Given the description of an element on the screen output the (x, y) to click on. 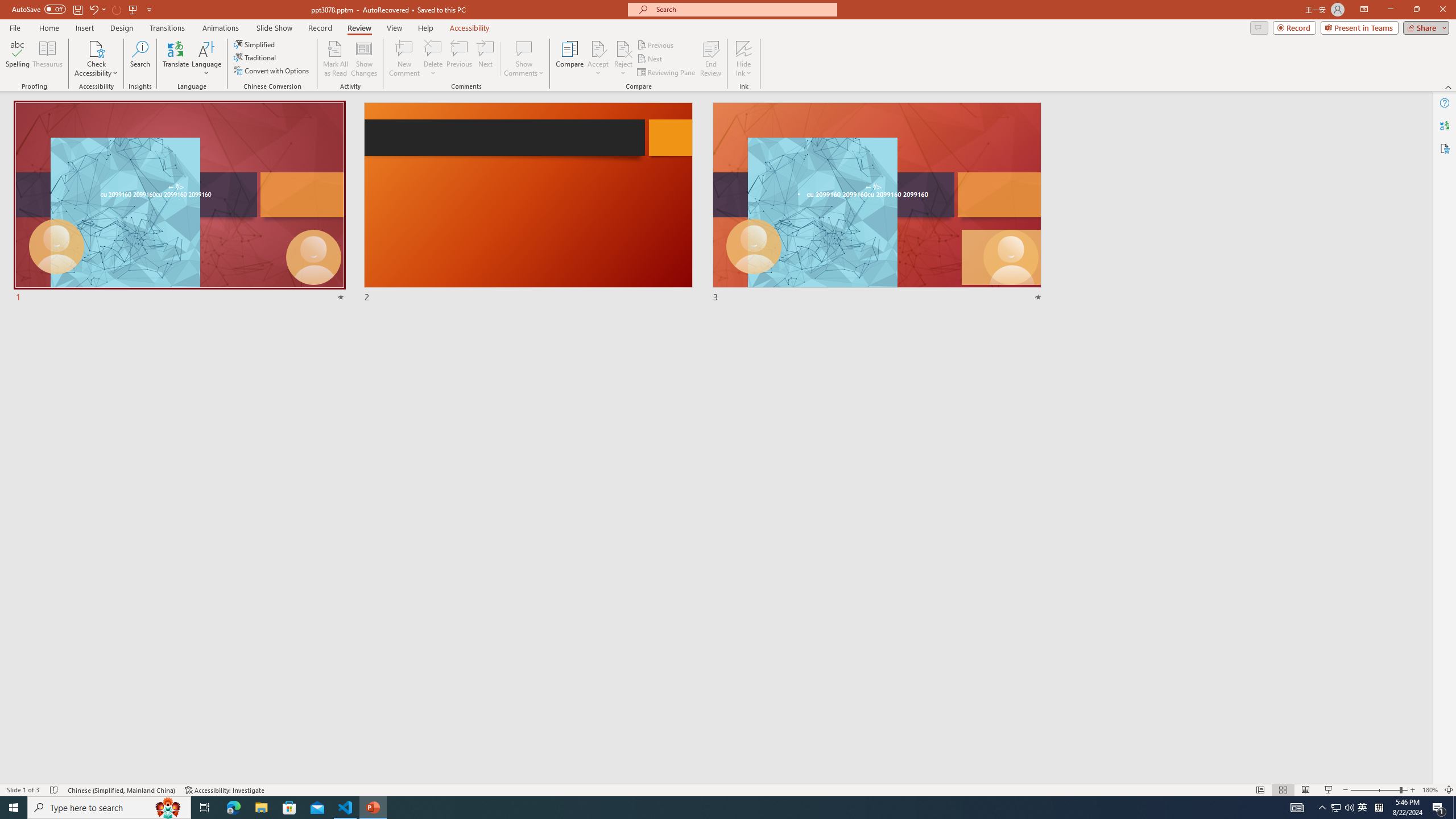
Slide Show (1328, 790)
Zoom (1379, 790)
Accept Change (598, 48)
